Given the description of an element on the screen output the (x, y) to click on. 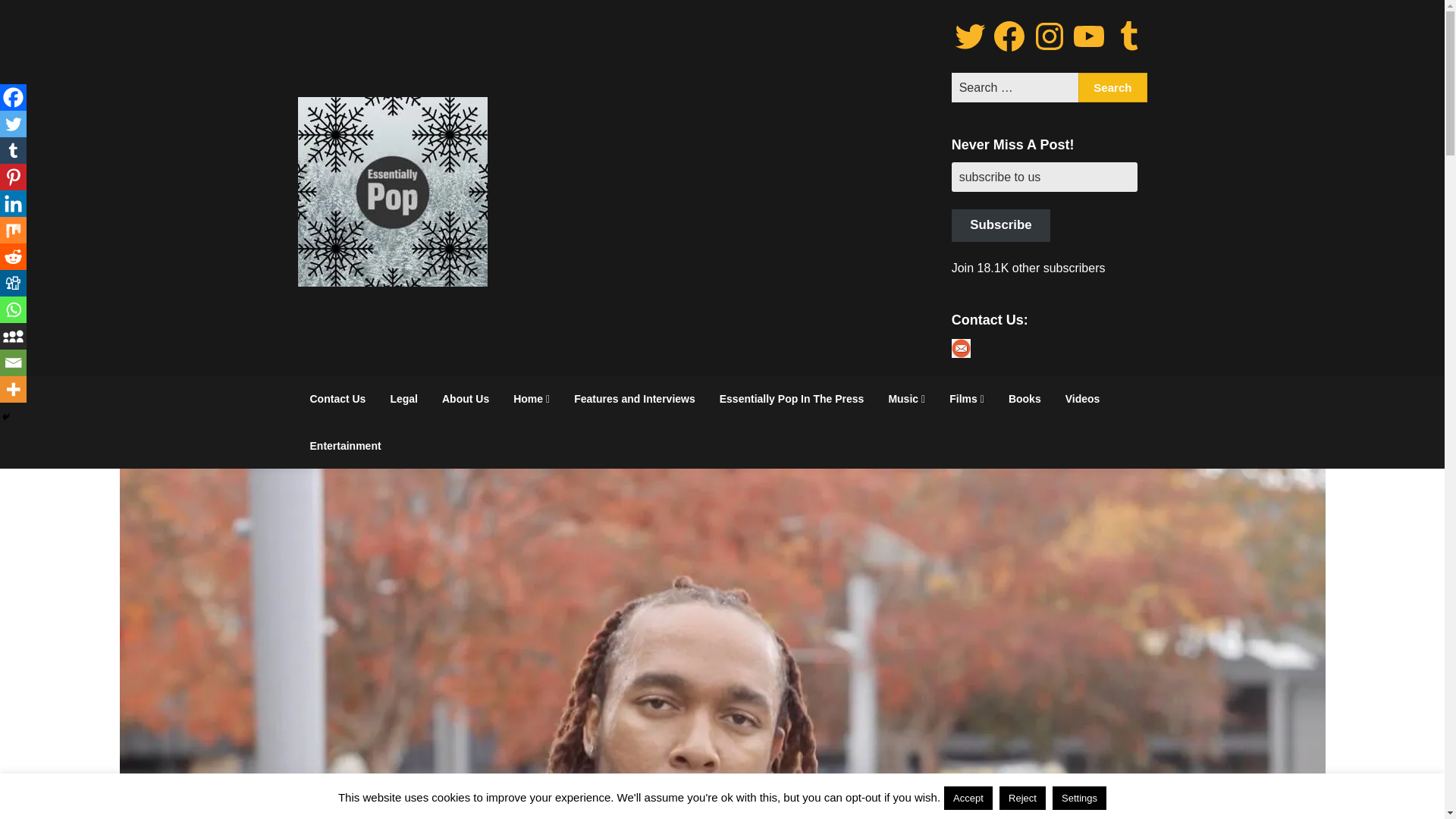
About Us (464, 398)
Videos (1082, 398)
Essentially Pop In The Press (791, 398)
Films (966, 398)
Instagram (1048, 36)
Music (906, 398)
YouTube (1088, 36)
Entertainment (345, 445)
Search (1112, 87)
Search (1112, 87)
Contact Us (337, 398)
Twitter (970, 36)
Home (531, 398)
Features and Interviews (634, 398)
Search (1112, 87)
